Given the description of an element on the screen output the (x, y) to click on. 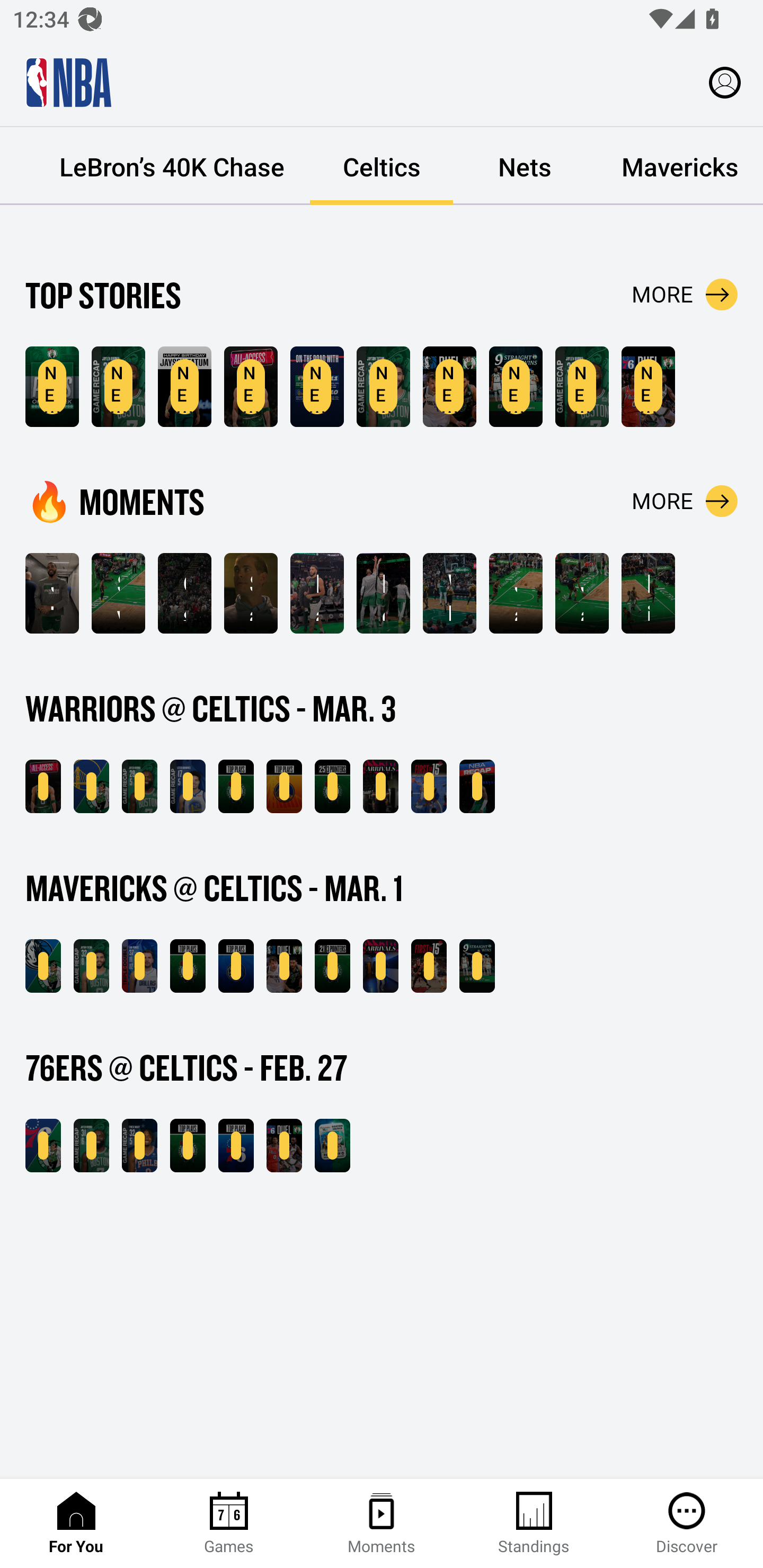
Profile (724, 81)
LeBron’s 40K Chase (171, 166)
Nets (524, 166)
Mavericks (679, 166)
MORE (684, 294)
NEW BOS' Top Plays of Week 19 (51, 386)
NEW Highlights From Jaylen Brown's 29-Point Game (117, 386)
NEW Happy Birthday Jayson Tatum! 🎉 (184, 386)
NEW Warriors And Celtics Clash At TD Garden 🍀 (250, 386)
NEW On The Road With Hotels.com (317, 386)
Highlights From Jayson Tatum's 32-Point Game NEW (383, 386)
Luka & Tatum Go Toe-To-Toe NEW (449, 386)
Highlights From Jaylen Brown's 31-Point Game NEW (581, 386)
Maxey & Brown Show Out In Faceoff NEW (648, 386)
MORE (684, 500)
JT Sounds Off On The Birthday Win 🥳 (51, 593)
Svi Mykhailiuk from deep! (117, 593)
Oshae Brissett throws it down (184, 593)
Sam Hauser hits from way downtown (250, 593)
Happy 26th Birthday To Jayson Tatum! 🍀 (317, 593)
Deuce's Dad 💚 (383, 593)
White Finds JB On The Backdoor Cut For The Jam 💥 (449, 593)
Jaylen Brown with the feed (515, 593)
Jaylen Brown with the slam (581, 593)
Nice dish from Jayson Tatum (648, 593)
NEW Warriors And Celtics Clash At TD Garden 🍀 (43, 785)
NEW BOS 140, GSW 88 - Mar 3 (91, 785)
NEW Highlights From Jaylen Brown's 29-Point Game (139, 785)
NEW Highlights From Lester Quinones' 17-Point Game (187, 785)
NEW BOS' Top Plays from GSW vs. BOS (236, 785)
GSW's Top Plays from GSW vs. BOS NEW (284, 785)
All 3-pointers from BOS' 25 3-pointer Night NEW (332, 785)
Steppin' Into Sunday 🔥 NEW (380, 785)
First To 15, Mar. 3rd NEW (428, 785)
Sunday's Recap NEW (477, 785)
NEW BOS 138, DAL 110 - Mar 1 (43, 965)
NEW Highlights From Jayson Tatum's 32-Point Game (91, 965)
NEW Highlights from Luka Doncic's Triple-Double (139, 965)
NEW BOS' Top Plays from DAL vs. BOS (187, 965)
NEW DAL's Top Plays from DAL vs. BOS (236, 965)
Luka & Tatum Go Toe-To-Toe NEW (284, 965)
All 3's from BOS' 21 3-Pointer Night NEW (332, 965)
Which Fit From Friday Would You Rock? 🤔 NEW (380, 965)
First To 15: Mar. 1st NEW (428, 965)
NEW BOS 117, PHI 99 - Feb 27 (43, 1145)
NEW Highlights From Jaylen Brown's 31-Point Game (91, 1145)
NEW Highlights From Tyrese Maxey's 32-Point Game (139, 1145)
NEW BOS's Top Plays from PHI vs. BOS (187, 1145)
NEW PHI's Top Plays from PHI vs. BOS (236, 1145)
Maxey & Brown Show Out In Faceoff NEW (284, 1145)
Eastern Conference Clash: 76ers Vs. Celtics ⚔️ NEW (332, 1145)
Games (228, 1523)
Moments (381, 1523)
Standings (533, 1523)
Discover (686, 1523)
